Given the description of an element on the screen output the (x, y) to click on. 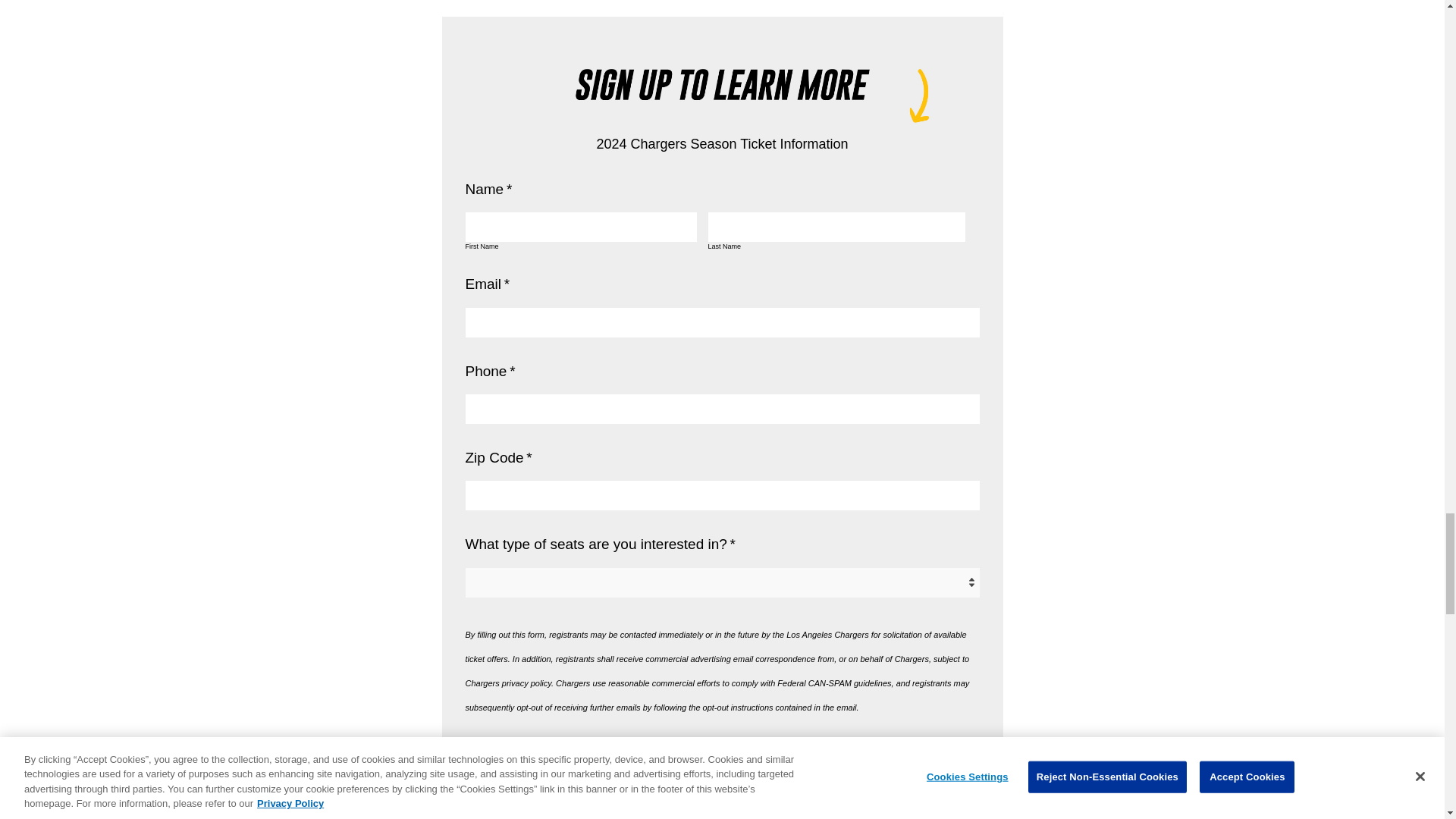
SUBMIT (722, 802)
